Given the description of an element on the screen output the (x, y) to click on. 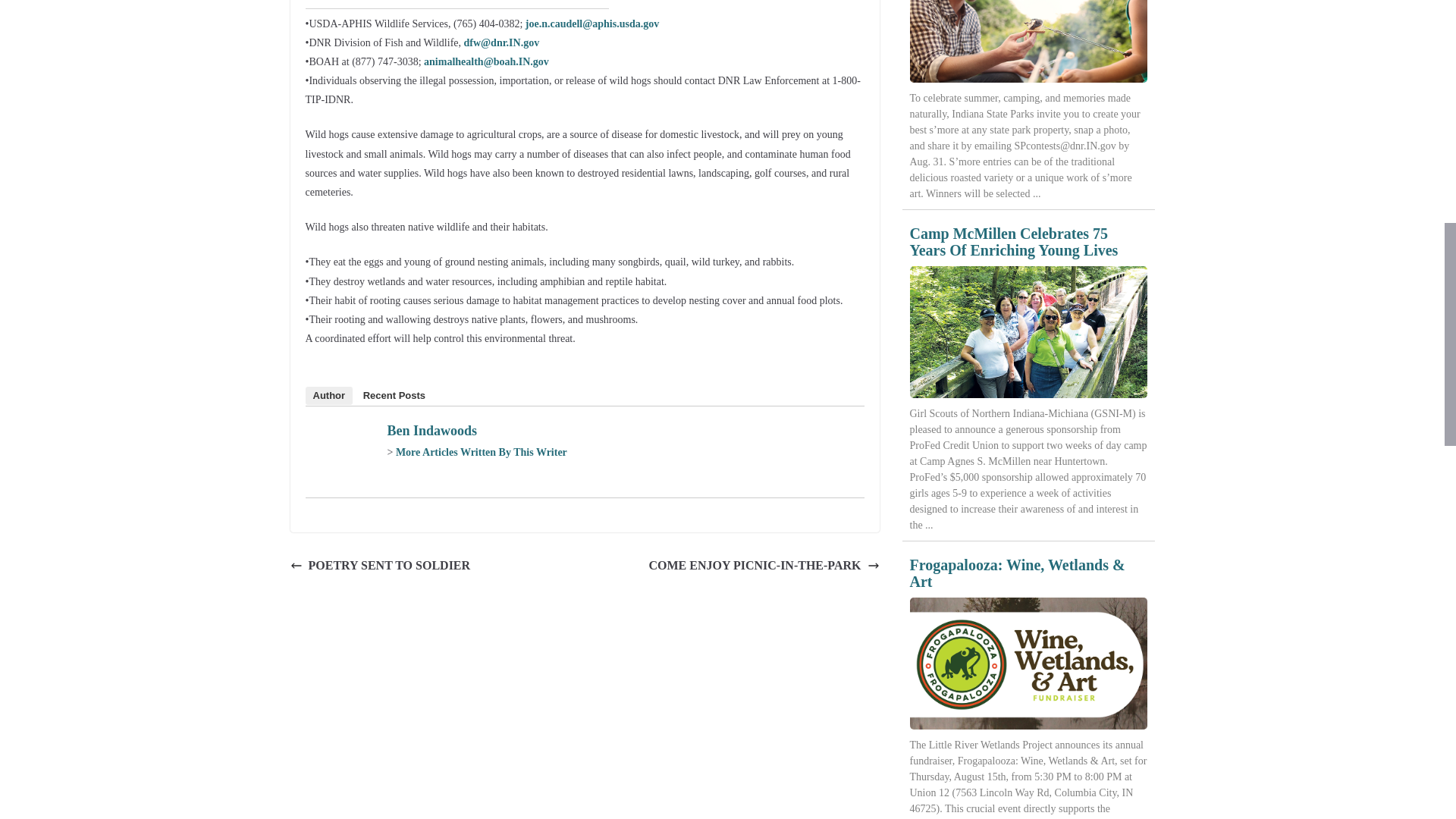
Ben Indawoods (432, 430)
More Articles Written By This Writer (481, 451)
Author (328, 395)
Camp McMillen Celebrates 75 Years Of Enriching Young Lives (1028, 332)
Recent Posts (393, 395)
